Given the description of an element on the screen output the (x, y) to click on. 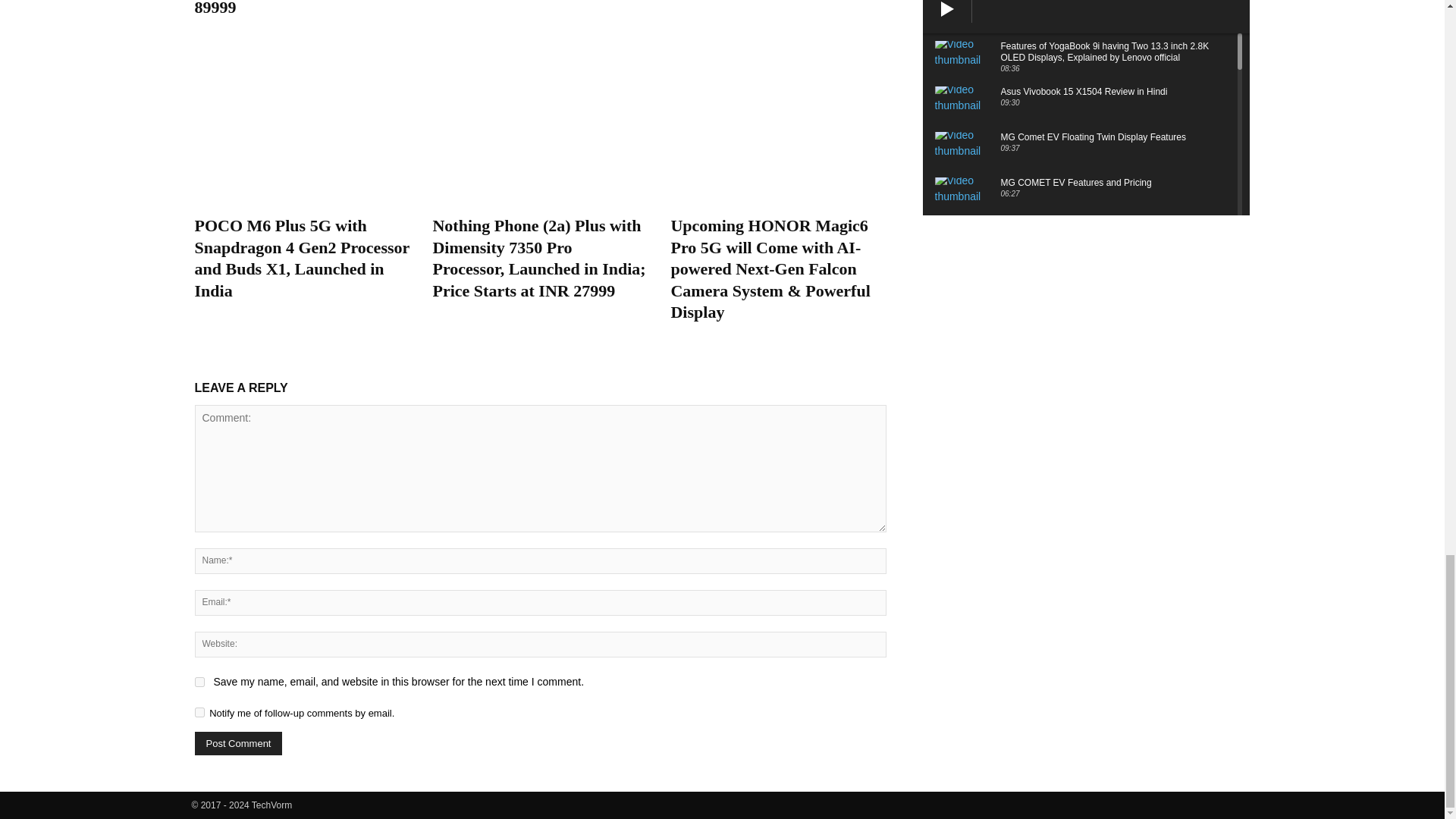
yes (198, 682)
Post Comment (237, 743)
subscribe (198, 712)
